Given the description of an element on the screen output the (x, y) to click on. 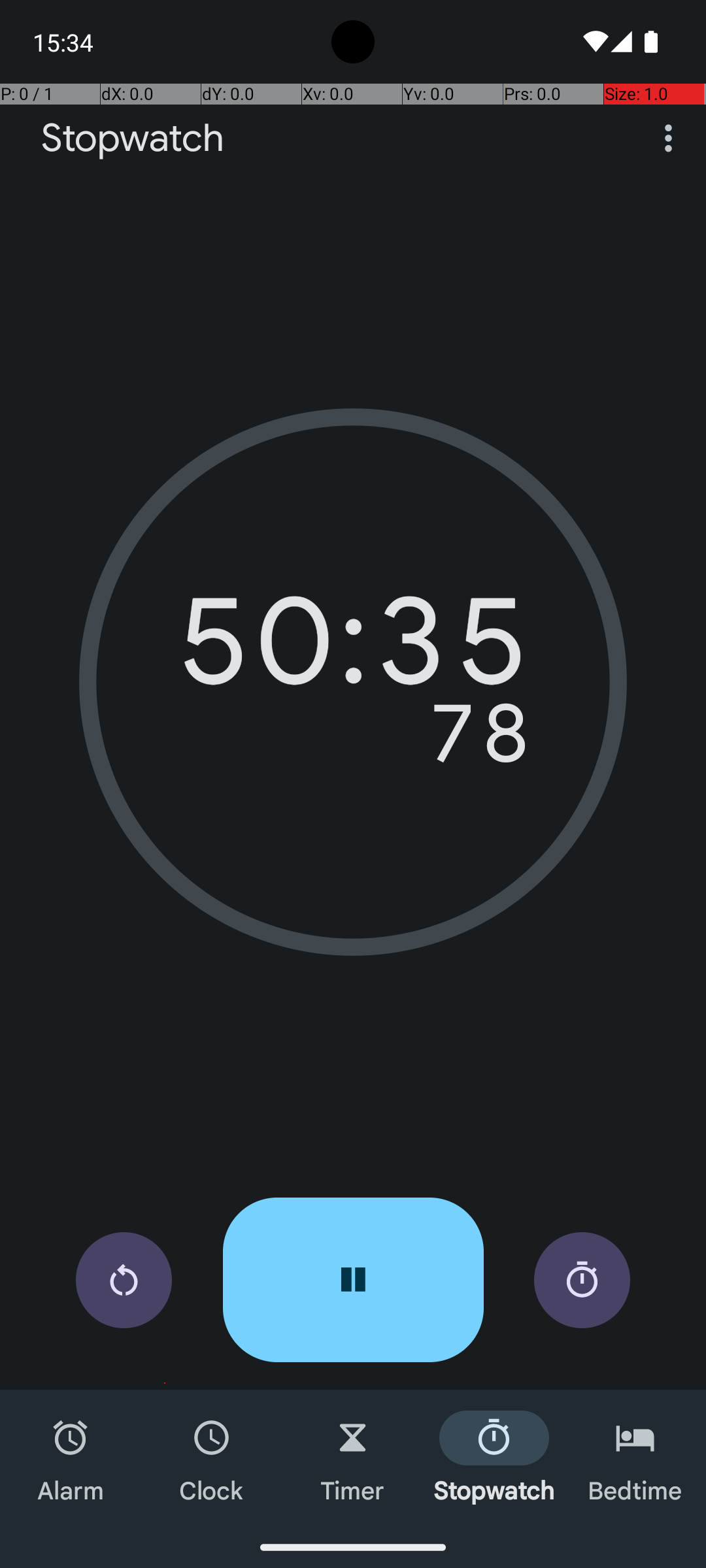
Lap Element type: android.widget.ImageButton (582, 1280)
50:32 Element type: android.widget.TextView (352, 650)
Wifi signal full. Element type: android.widget.FrameLayout (593, 41)
